Given the description of an element on the screen output the (x, y) to click on. 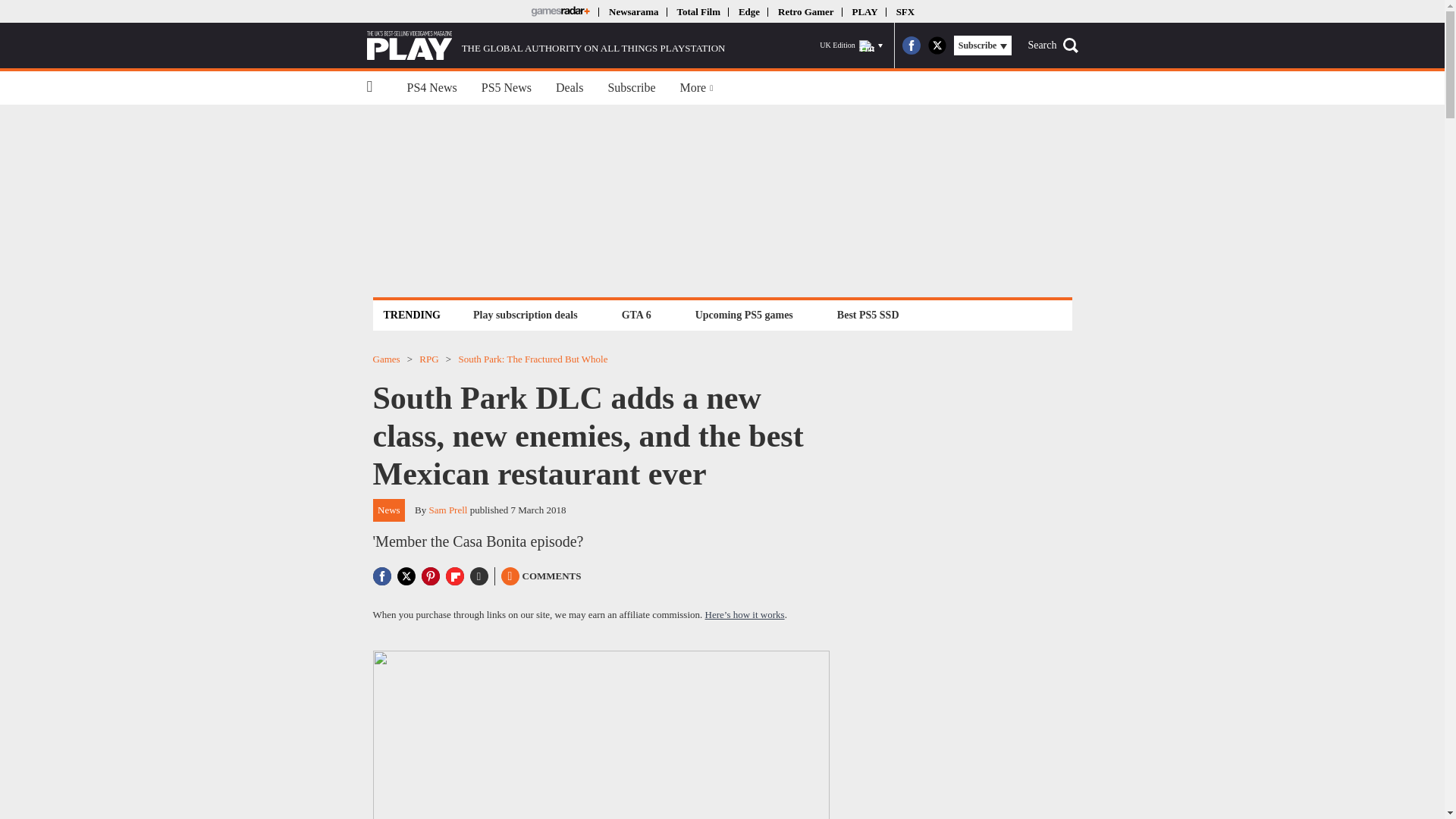
GTA 6 (635, 314)
UK Edition (850, 45)
Edge (749, 11)
Upcoming PS5 games (743, 314)
PS5 News (505, 87)
PLAY (864, 11)
Newsarama (633, 11)
SFX (905, 11)
Retro Gamer (805, 11)
Best PS5 SSD (867, 314)
